Given the description of an element on the screen output the (x, y) to click on. 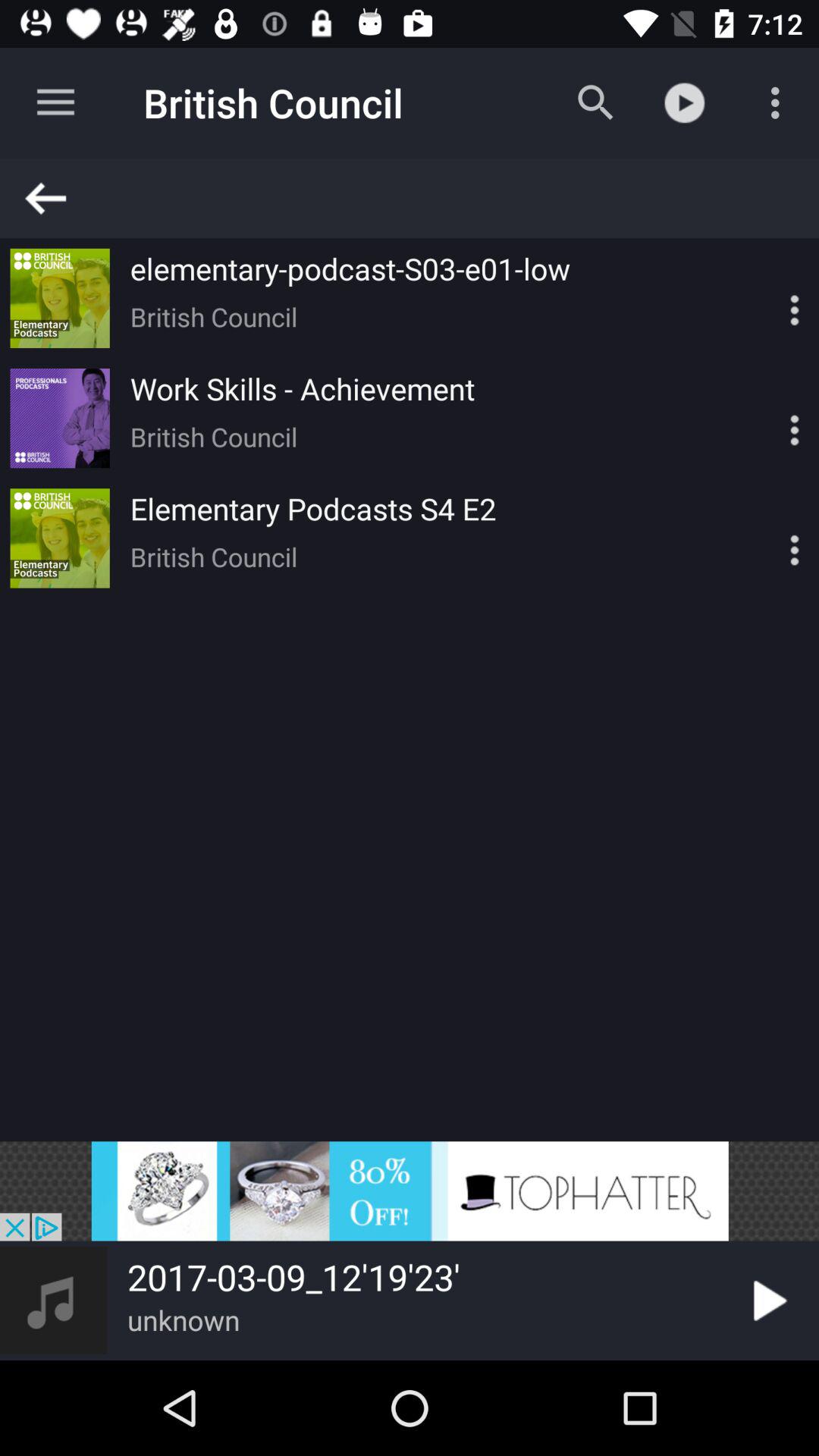
go to previous (416, 198)
